Given the description of an element on the screen output the (x, y) to click on. 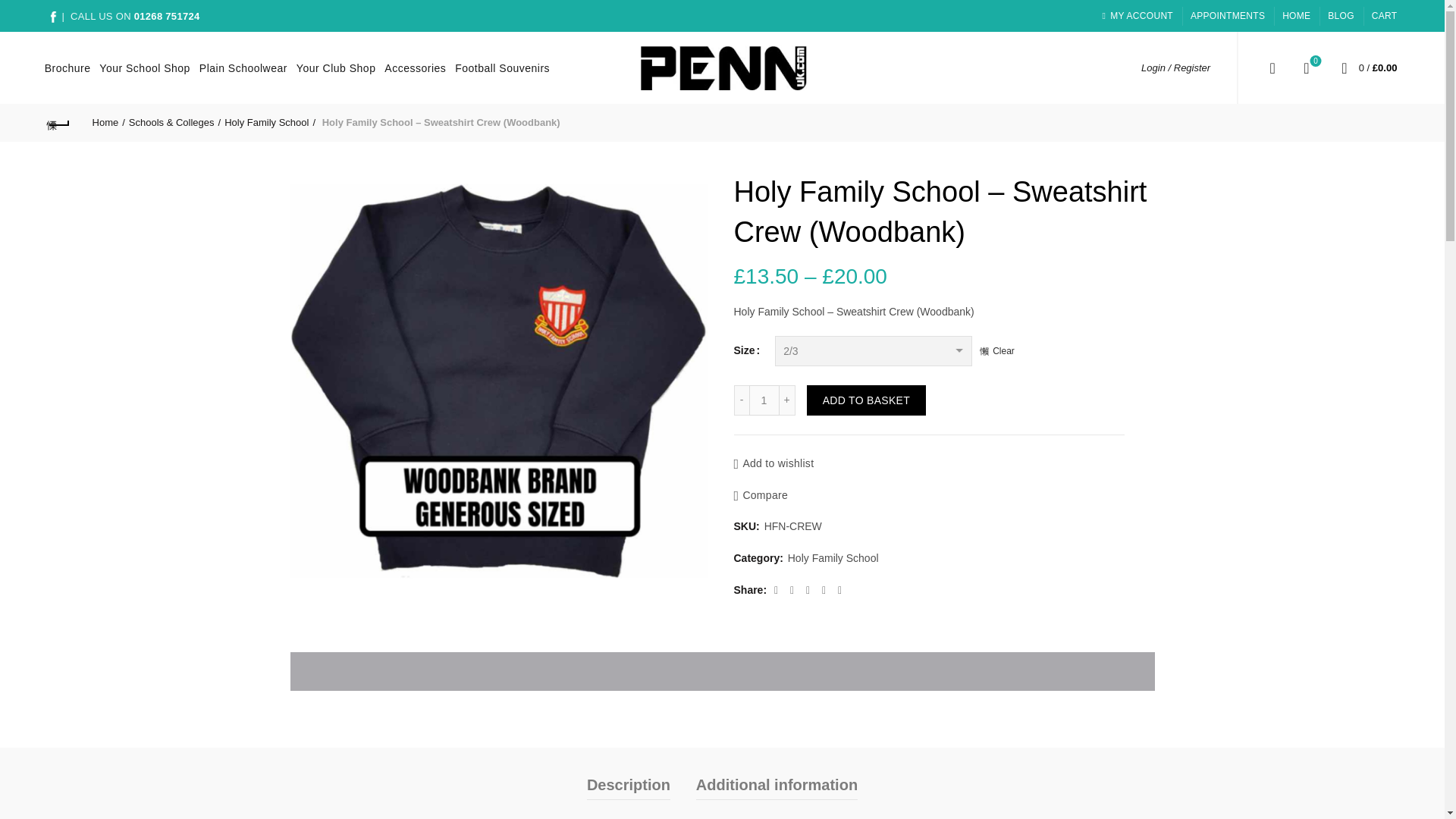
HOME (1296, 15)
APPOINTMENTS (1306, 67)
Home (1228, 15)
CART (109, 122)
1 (1384, 15)
01268 751724 (763, 399)
Brochure (166, 16)
Holy Family School (63, 67)
Back (269, 122)
Accessories (59, 122)
Plain Schoolwear (411, 67)
Football Souvenirs (239, 67)
Your School Shop (498, 67)
Your Club Shop (140, 67)
